Given the description of an element on the screen output the (x, y) to click on. 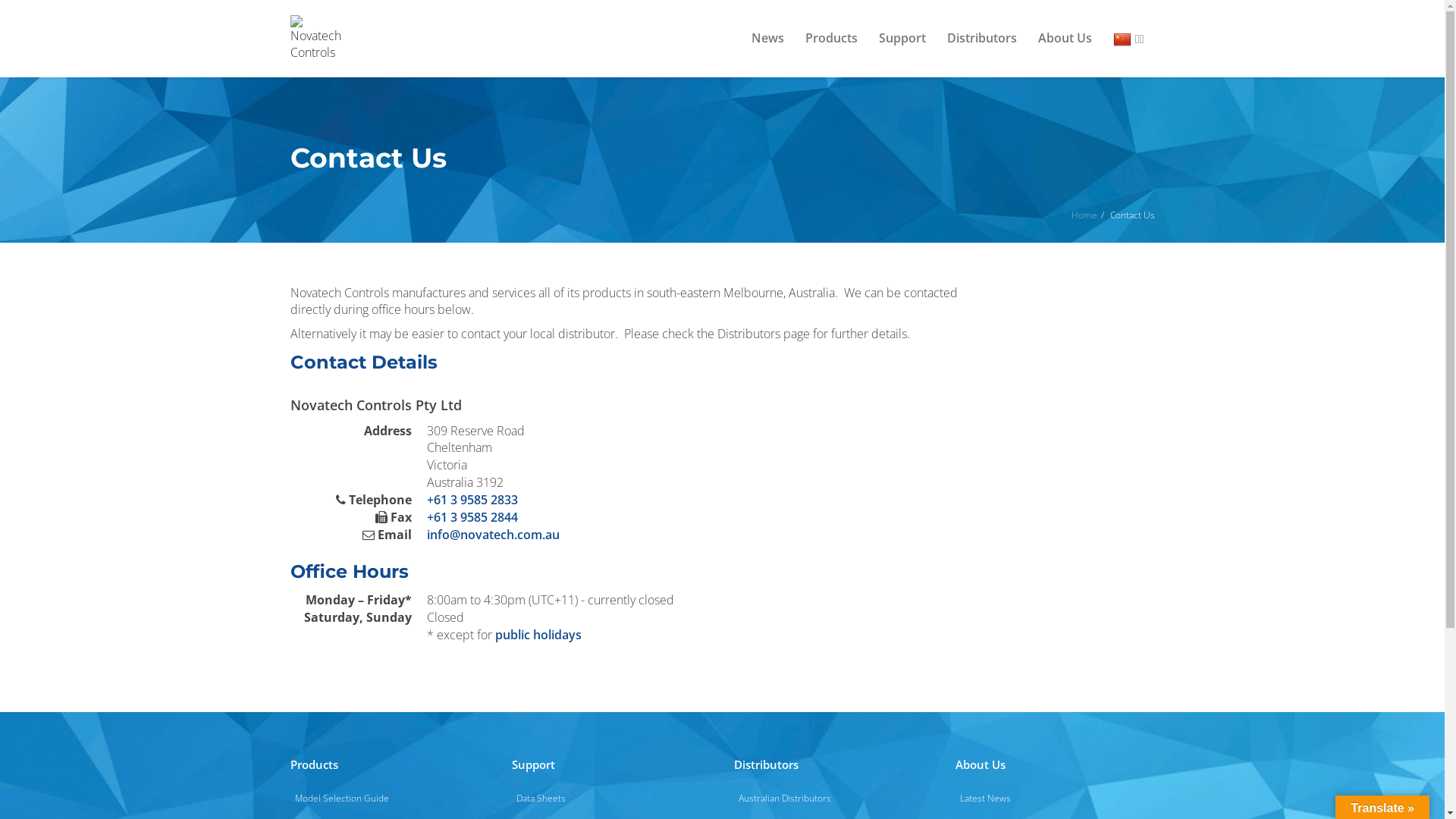
News Element type: text (767, 37)
info@novatech.com.au Element type: text (492, 534)
About Us Element type: text (1064, 37)
public holidays Element type: text (537, 634)
Support Element type: text (902, 37)
+61 3 9585 2844 Element type: text (471, 516)
Model Selection Guide Element type: text (389, 798)
+61 3 9585 2833 Element type: text (471, 499)
Products Element type: text (831, 37)
Data Sheets Element type: text (611, 798)
Latest News Element type: text (1054, 798)
Distributors Element type: text (981, 37)
Home Element type: text (1083, 214)
Australian Distributors Element type: text (833, 798)
